Given the description of an element on the screen output the (x, y) to click on. 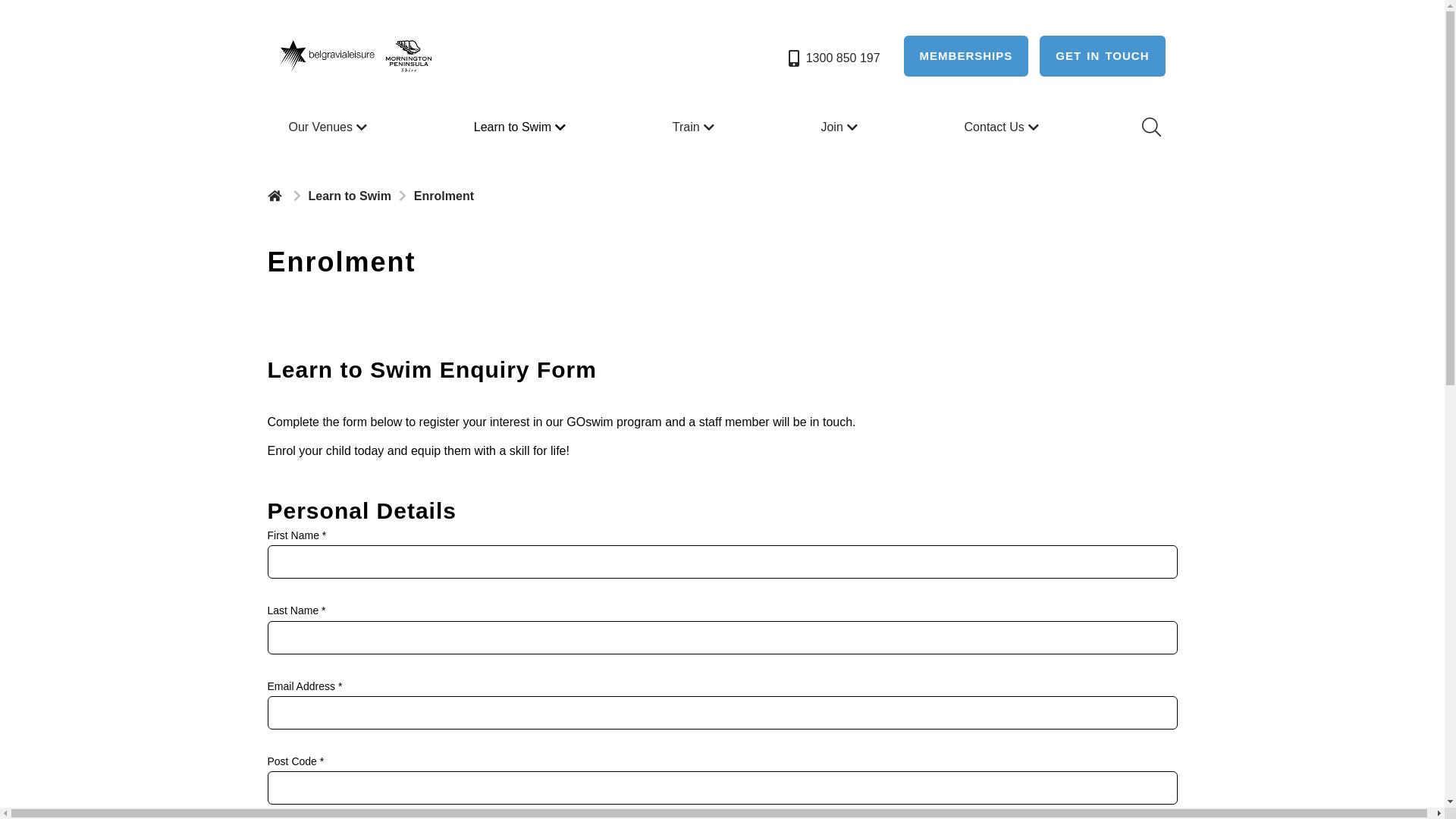
Search Element type: text (1150, 127)
1300 850 197 Element type: text (832, 58)
GET IN TOUCH Element type: text (1101, 55)
Our Venues Element type: text (329, 127)
Join Element type: text (840, 127)
  Element type: text (275, 195)
MEMBERSHIPS Element type: text (966, 55)
Train Element type: text (695, 127)
Contact Us Element type: text (1003, 127)
Learn to Swim Element type: text (521, 127)
